Given the description of an element on the screen output the (x, y) to click on. 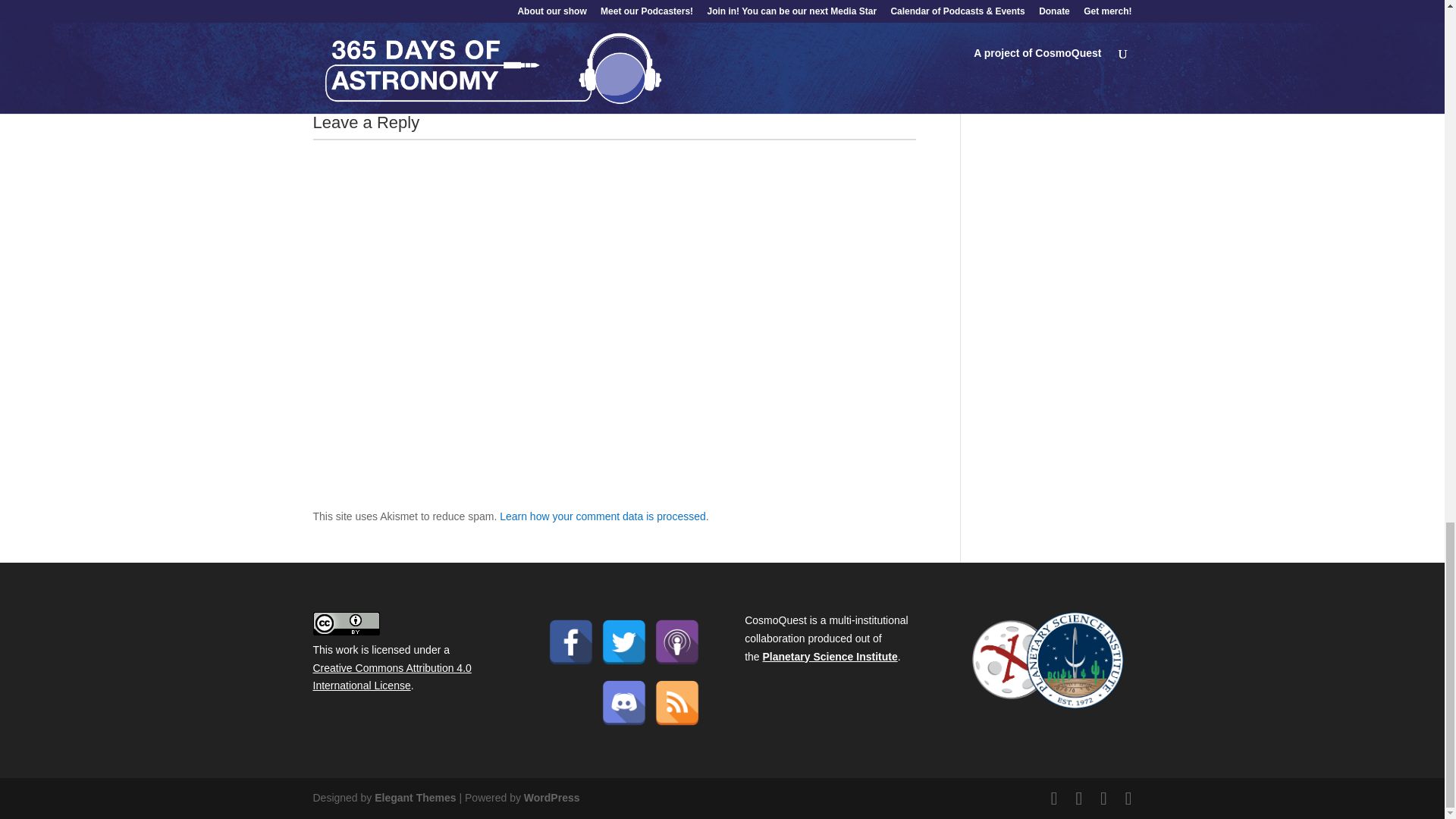
Facebook (571, 642)
Premium WordPress Themes (414, 797)
Twitter (623, 642)
Discord (623, 702)
iTunes Podcasts (676, 642)
RSS Feed (676, 702)
Learn how your comment data is processed (602, 516)
